Given the description of an element on the screen output the (x, y) to click on. 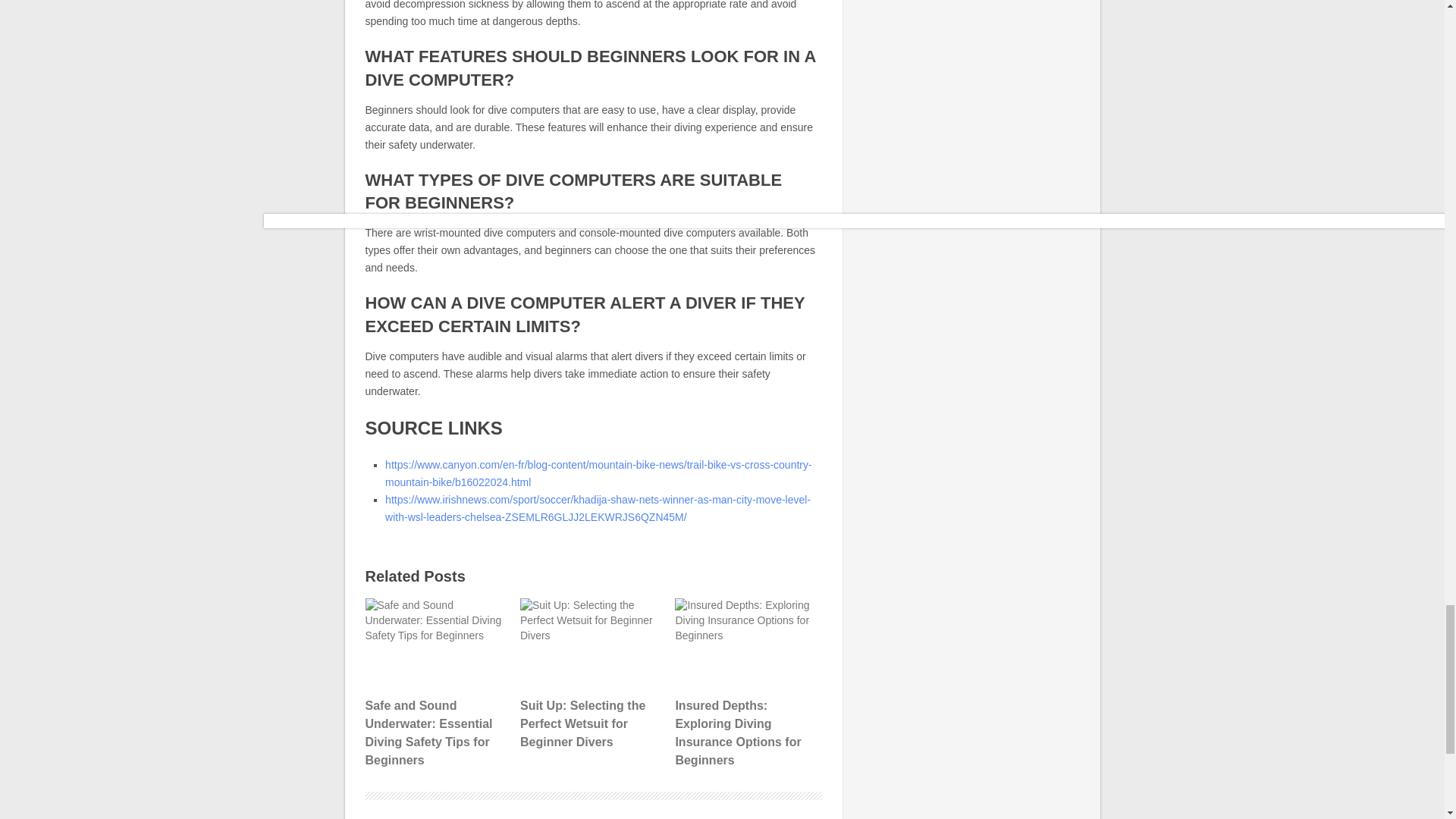
Suit Up: Selecting the Perfect Wetsuit for Beginner Divers (591, 674)
Suit Up: Selecting the Perfect Wetsuit for Beginner Divers (591, 643)
